Given the description of an element on the screen output the (x, y) to click on. 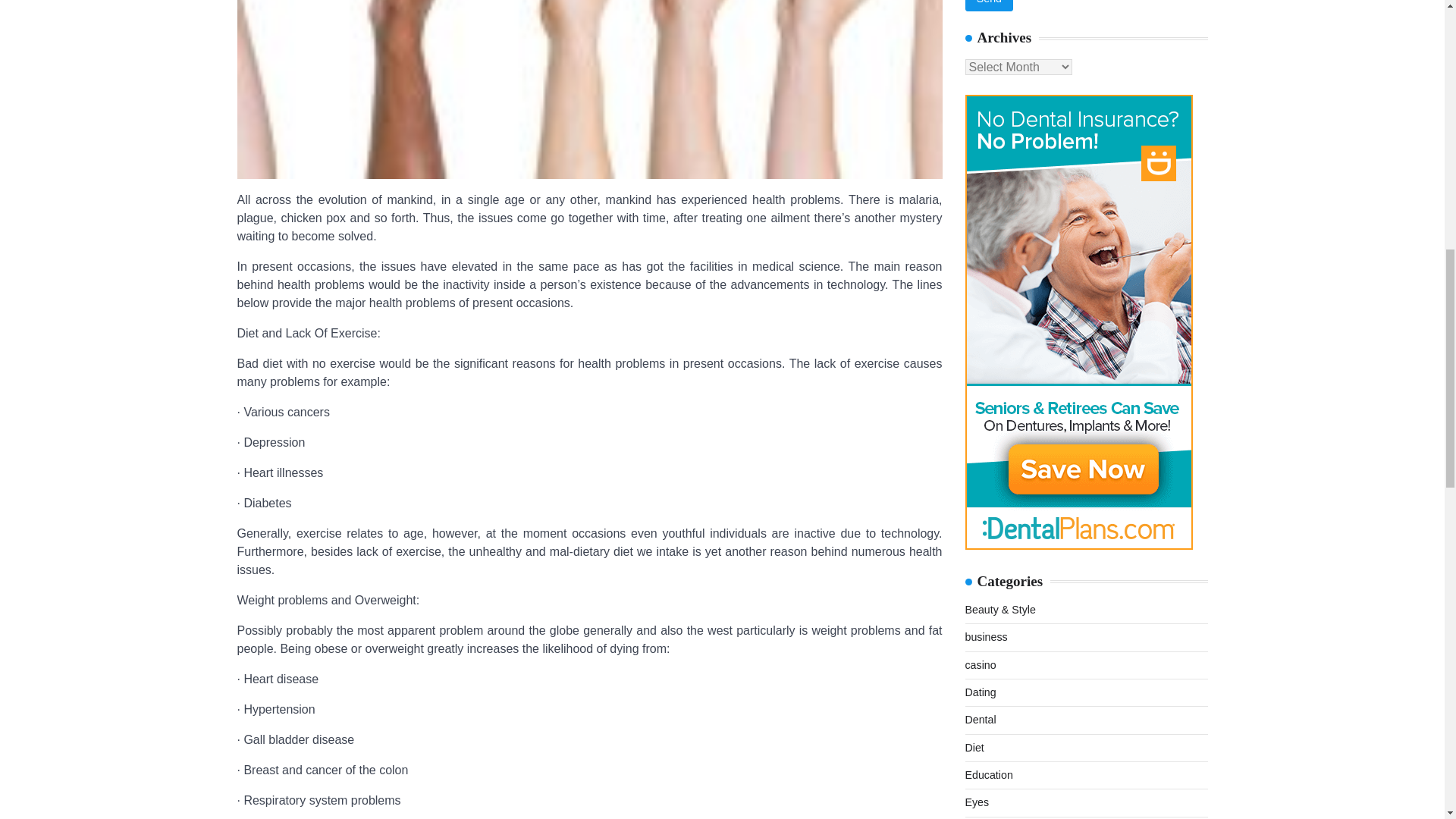
Diet (973, 626)
Featured (985, 709)
business (985, 516)
Dental (979, 598)
casino (979, 544)
Education (987, 654)
Health (979, 816)
Game (978, 792)
Eyes (975, 681)
Dating (979, 571)
